Given the description of an element on the screen output the (x, y) to click on. 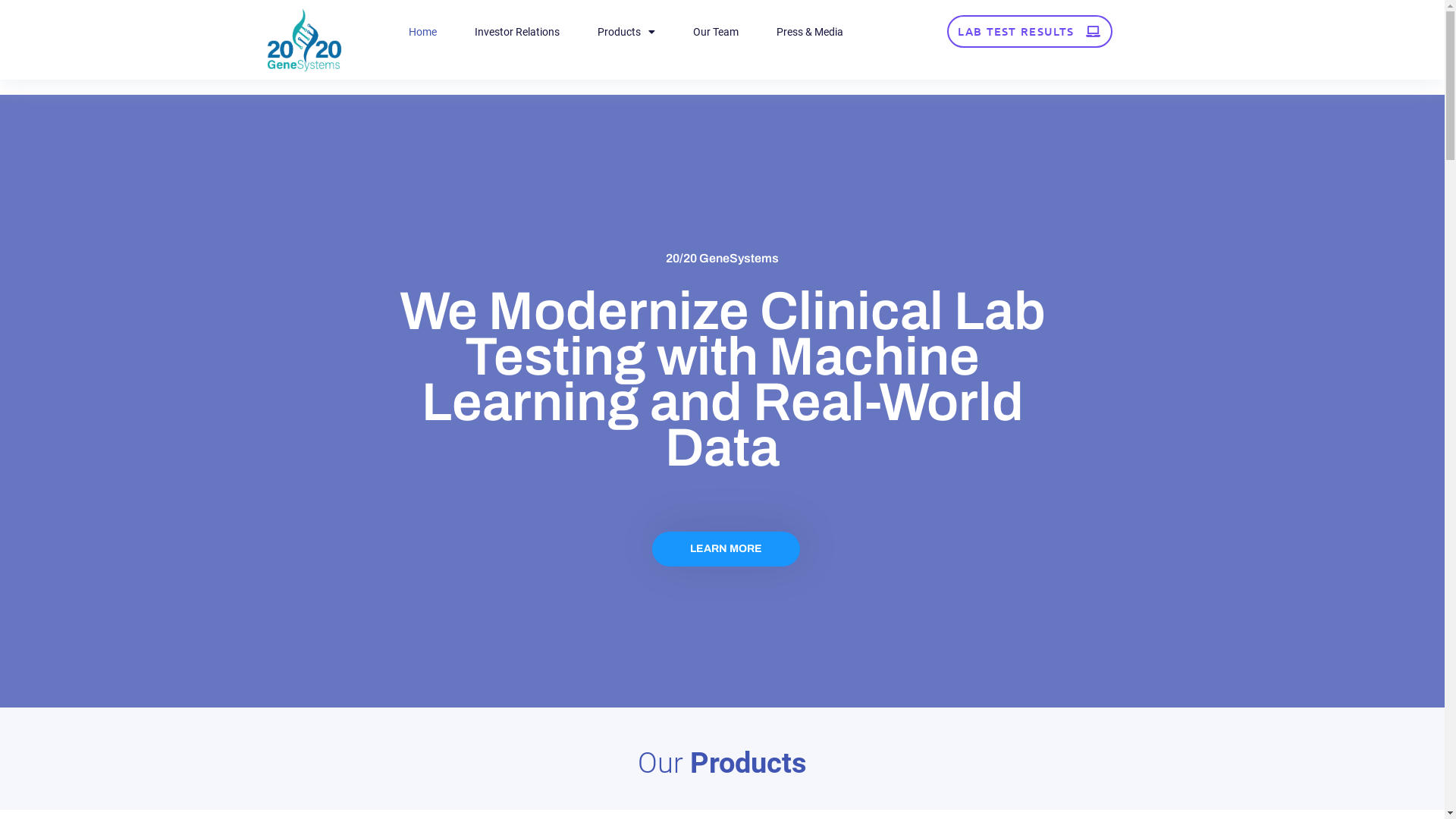
Investor Relations Element type: text (516, 31)
Press & Media Element type: text (809, 31)
LAB TEST RESULTS Element type: text (1029, 31)
Products Element type: text (626, 31)
Our Team Element type: text (715, 31)
Home Element type: text (422, 31)
LEARN MORE Element type: text (726, 548)
